Given the description of an element on the screen output the (x, y) to click on. 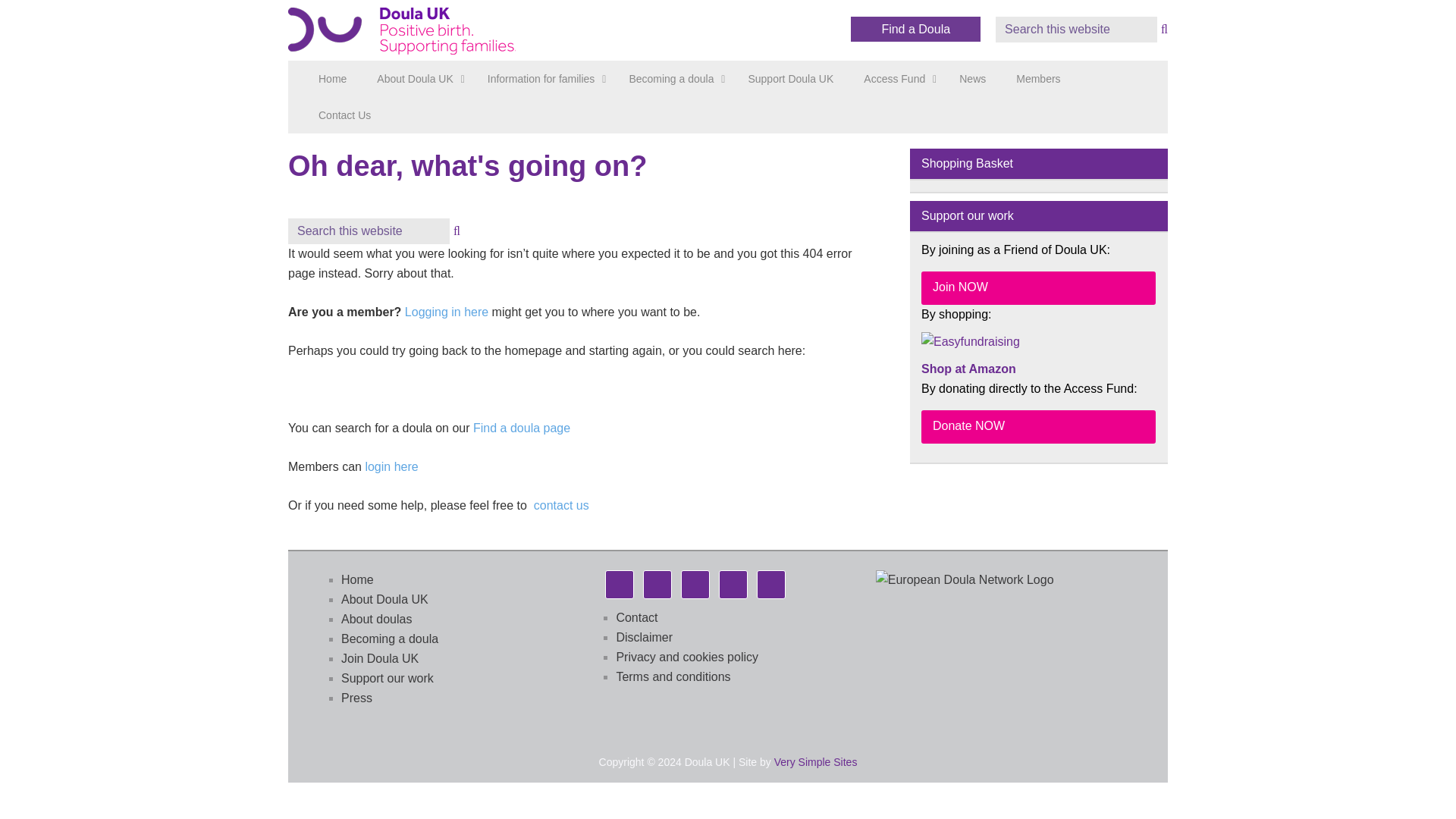
Access Fund (895, 78)
Logging in here (445, 311)
Doula UK (409, 33)
Find a Doula (914, 28)
Home (331, 78)
News (972, 78)
Support Doula UK (790, 78)
Members (1038, 78)
Contact Us (343, 115)
